Given the description of an element on the screen output the (x, y) to click on. 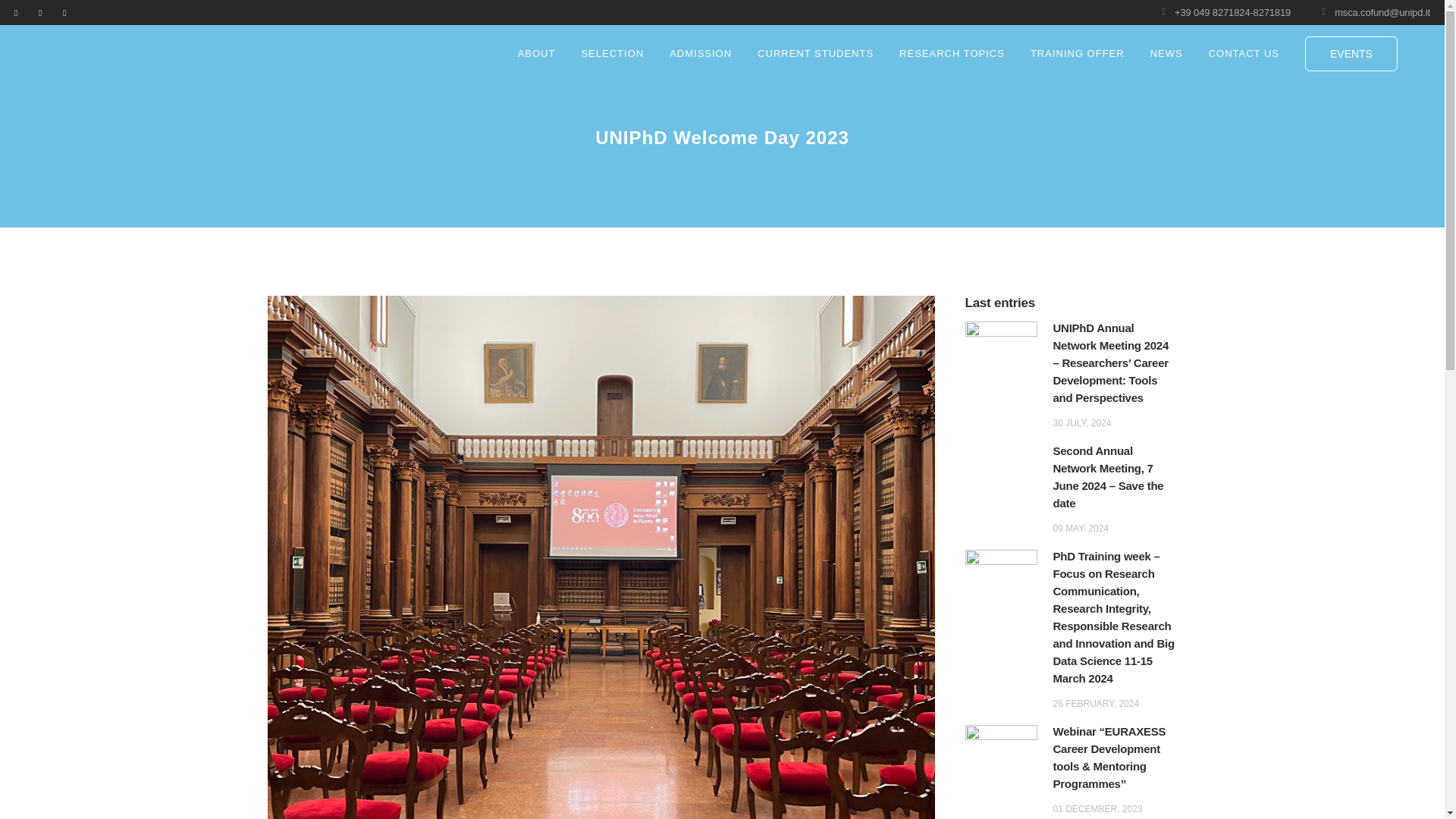
ABOUT (537, 53)
ADMISSION (700, 53)
SELECTION (611, 53)
NEWS (1166, 53)
CONTACT US (1243, 53)
TRAINING OFFER (1077, 53)
RESEARCH TOPICS (951, 53)
EVENTS (1350, 53)
CURRENT STUDENTS (815, 53)
